Given the description of an element on the screen output the (x, y) to click on. 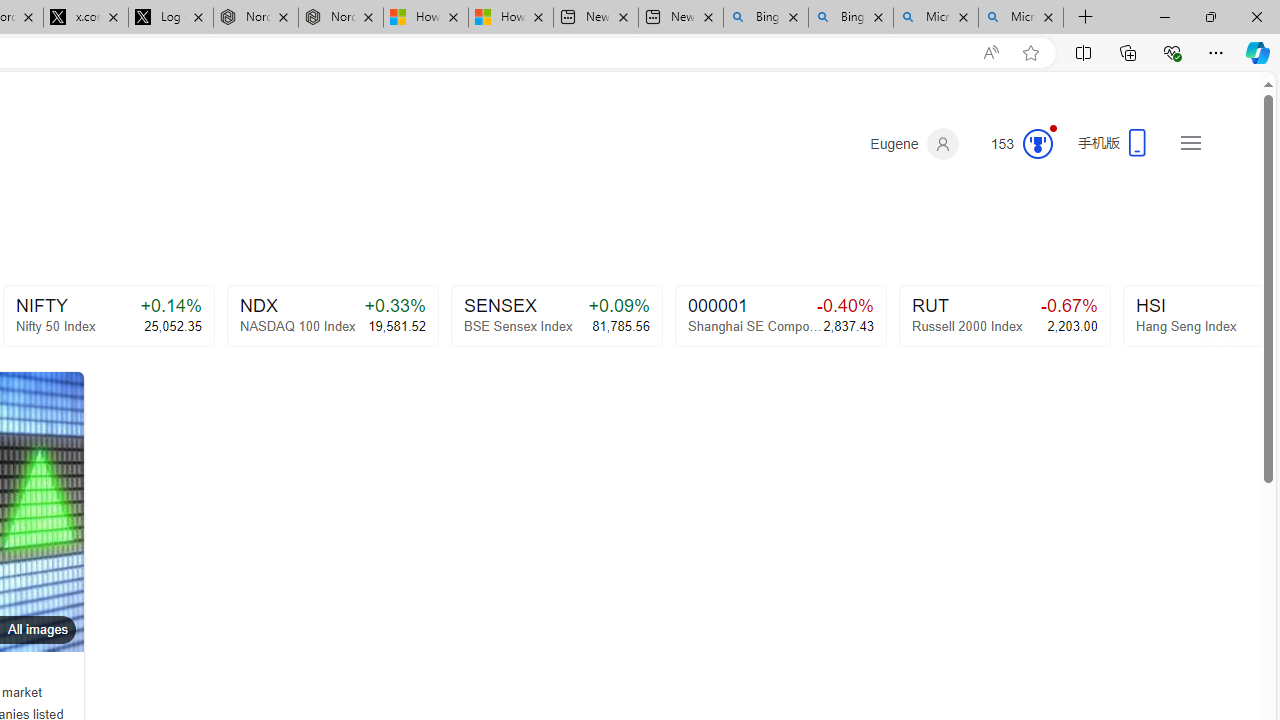
SENSEX+0.09%BSE Sensex Index81,785.56 (556, 315)
NDX +0.33% NASDAQ 100 Index 19,581.52 (332, 315)
How to Use a Monitor With Your Closed Laptop (510, 17)
000001 -0.40% Shanghai SE Composite Index 2,837.43 (780, 315)
Microsoft Rewards 153 (1014, 143)
RUT-0.67%Russell 2000 Index2,203.00 (1004, 315)
